Given the description of an element on the screen output the (x, y) to click on. 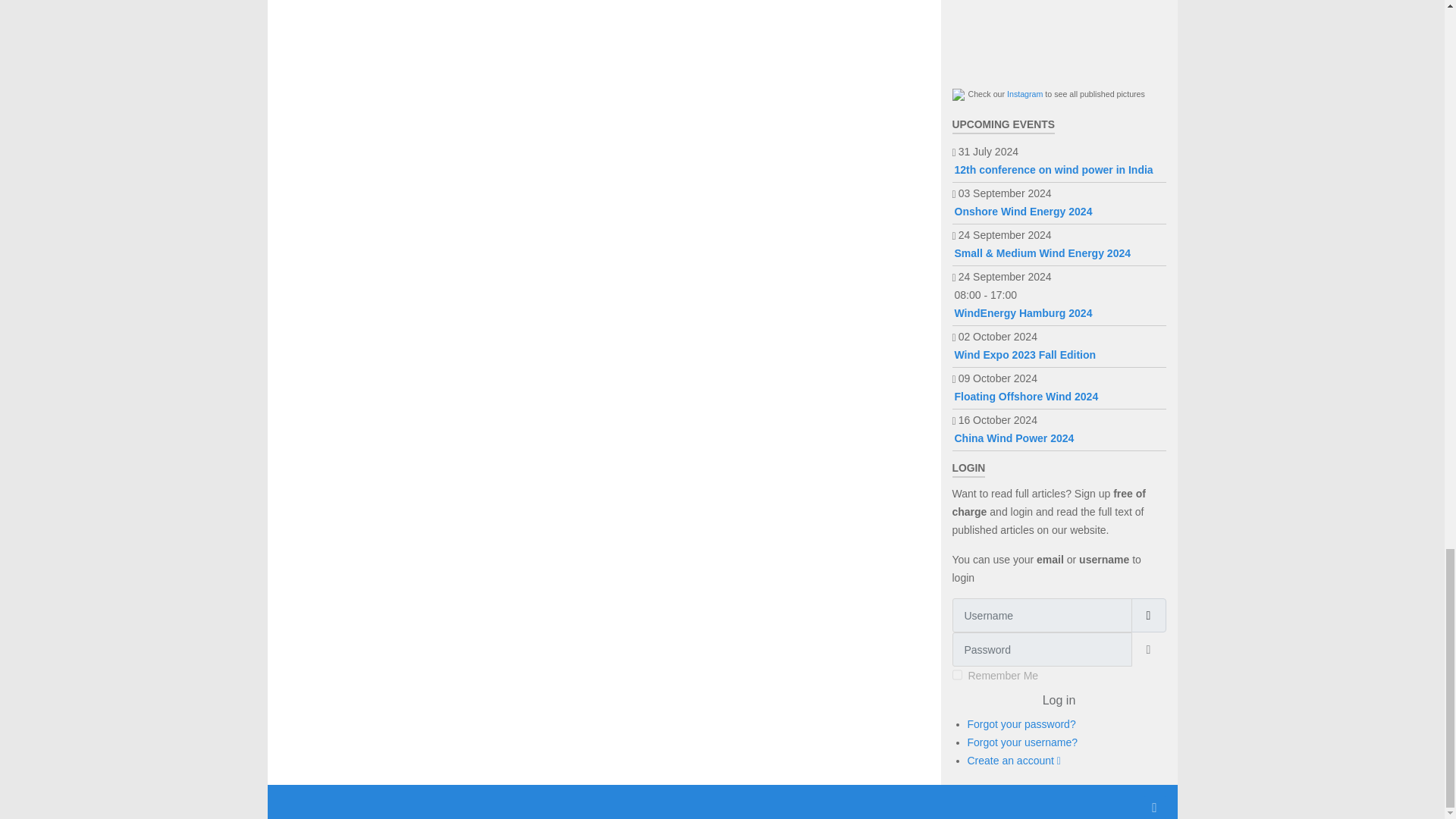
yes (957, 674)
